Given the description of an element on the screen output the (x, y) to click on. 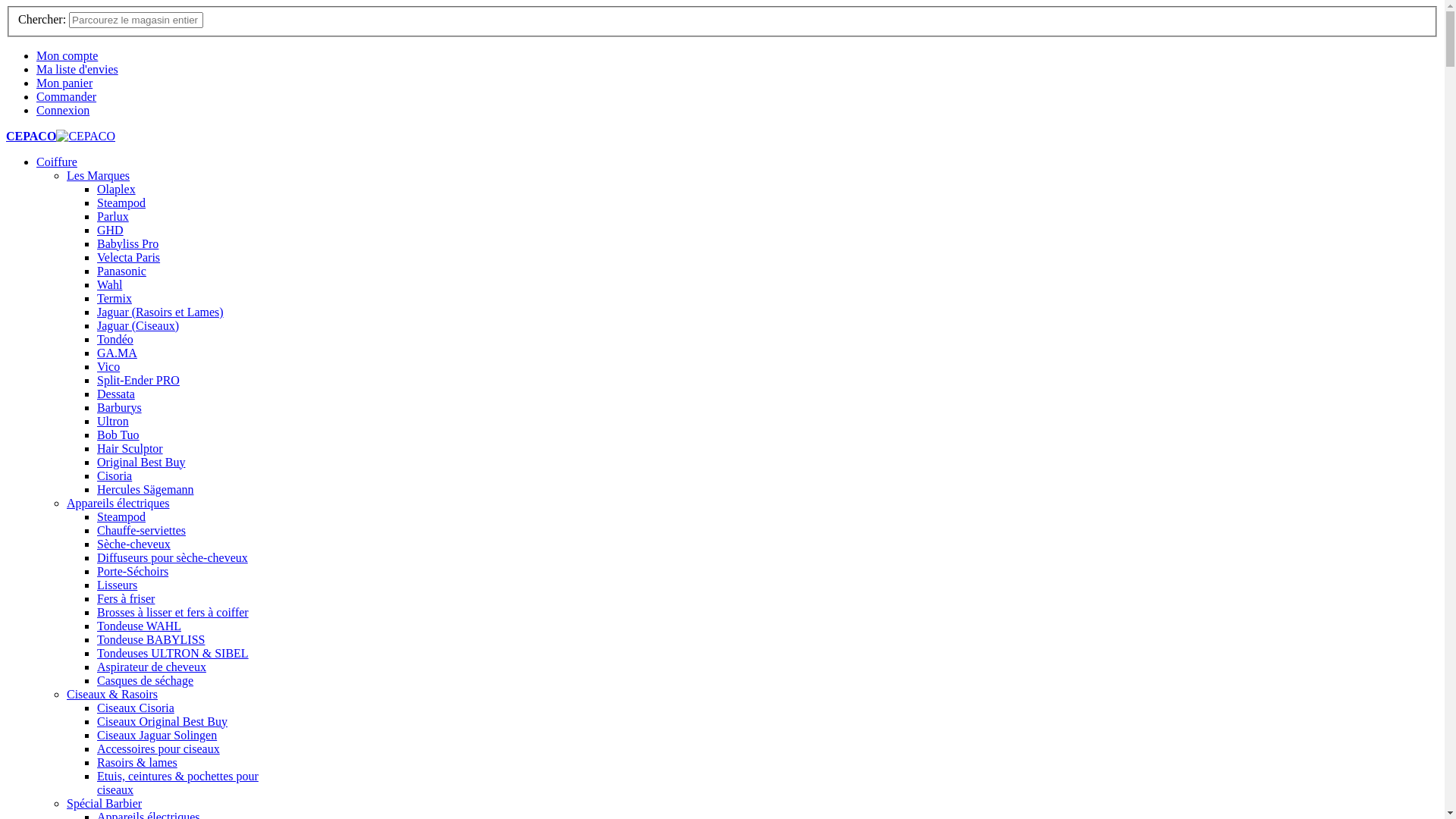
Parlux Element type: text (112, 216)
Olaplex Element type: text (116, 188)
Coiffure Element type: text (56, 161)
Aspirateur de cheveux Element type: text (151, 666)
Tondeuse WAHL Element type: text (139, 625)
Ultron Element type: text (112, 420)
Connexion Element type: text (62, 109)
Accessoires pour ciseaux Element type: text (158, 748)
Barburys Element type: text (119, 407)
Original Best Buy Element type: text (141, 461)
Steampod Element type: text (121, 202)
Dessata Element type: text (115, 393)
Wahl Element type: text (109, 284)
Cisoria Element type: text (114, 475)
Tondeuse BABYLISS Element type: text (150, 639)
Jaguar (Rasoirs et Lames) Element type: text (160, 311)
Mon panier Element type: text (64, 82)
Rasoirs & lames Element type: text (137, 762)
CEPACO Element type: text (60, 135)
Lisseurs Element type: text (117, 584)
Steampod Element type: text (121, 516)
Ciseaux Jaguar Solingen Element type: text (156, 734)
Babyliss Pro Element type: text (127, 243)
Ciseaux & Rasoirs Element type: text (111, 693)
Hair Sculptor Element type: text (130, 448)
Ma liste d'envies Element type: text (77, 68)
Panasonic Element type: text (121, 270)
Chauffe-serviettes Element type: text (141, 530)
Tondeuses ULTRON & SIBEL Element type: text (172, 652)
Commander Element type: text (66, 96)
Mon compte Element type: text (66, 55)
Bob Tuo Element type: text (118, 434)
Etuis, ceintures & pochettes pour ciseaux Element type: text (177, 782)
Ciseaux Original Best Buy Element type: text (162, 721)
Split-Ender PRO Element type: text (138, 379)
Jaguar (Ciseaux) Element type: text (137, 325)
GA.MA Element type: text (117, 352)
Velecta Paris Element type: text (128, 257)
GHD Element type: text (110, 229)
Vico Element type: text (108, 366)
Termix Element type: text (114, 297)
Ciseaux Cisoria Element type: text (135, 707)
Les Marques Element type: text (97, 175)
